Given the description of an element on the screen output the (x, y) to click on. 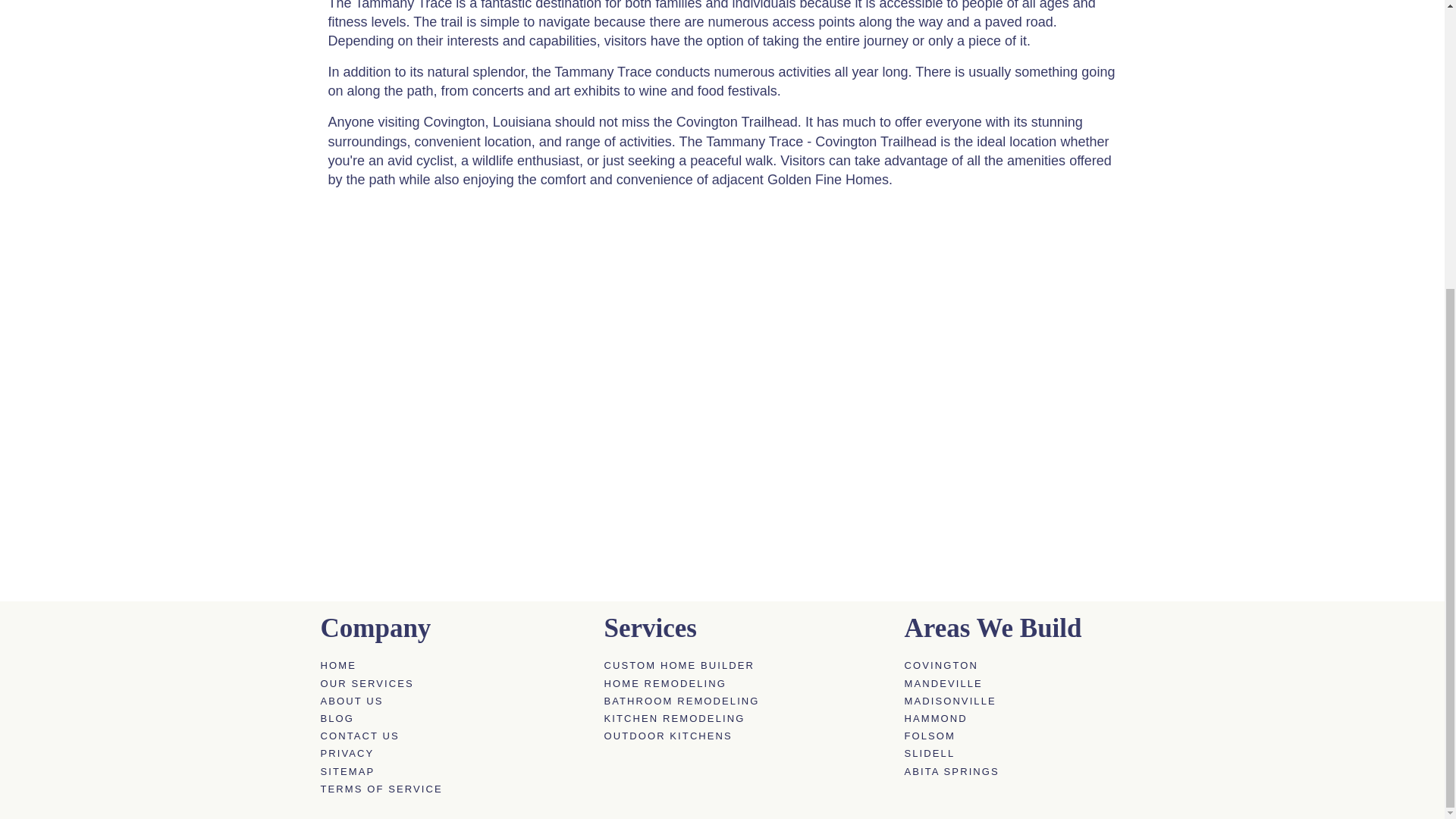
CUSTOM HOME BUILDER (746, 665)
CONTACT US (454, 735)
FOLSOM (1017, 735)
MADISONVILLE (1017, 701)
BATHROOM REMODELING (746, 701)
ABOUT US (454, 701)
KITCHEN REMODELING (746, 718)
ABITA SPRINGS (1017, 771)
OUR SERVICES (454, 684)
HAMMOND (1017, 718)
